Given the description of an element on the screen output the (x, y) to click on. 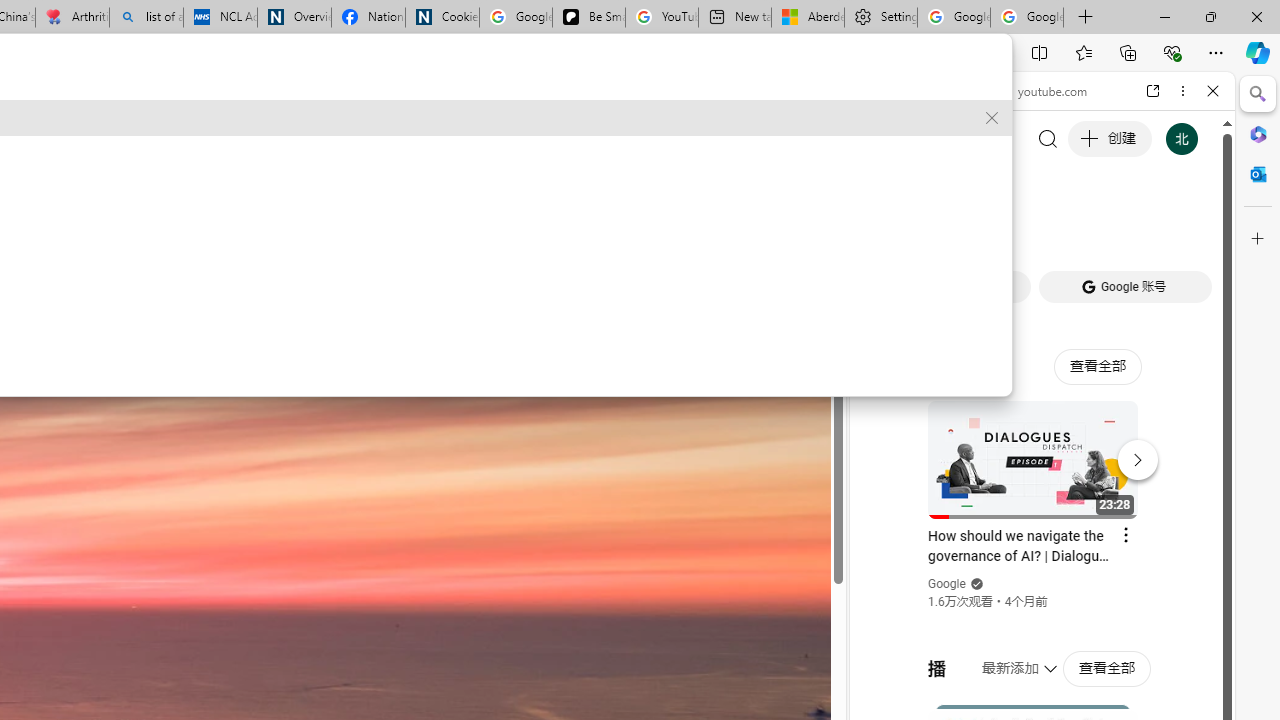
Search Filter, Search Tools (1093, 228)
Favorites (1083, 52)
SEARCH TOOLS (1093, 228)
Browser essentials (1171, 52)
Aberdeen, Hong Kong SAR hourly forecast | Microsoft Weather (807, 17)
This site scope (936, 180)
Close Customize pane (1258, 239)
Open link in new tab (1153, 91)
